Given the description of an element on the screen output the (x, y) to click on. 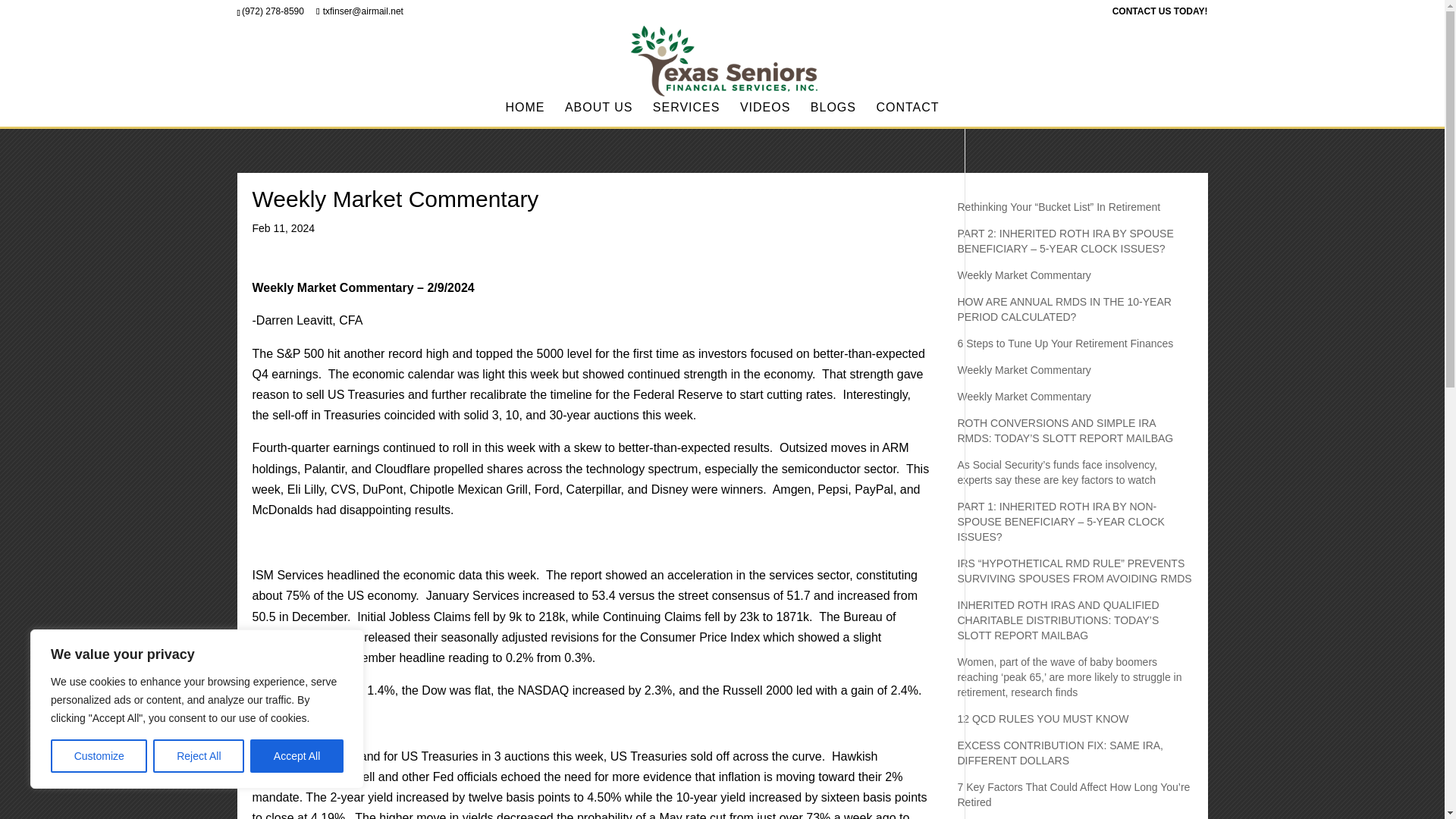
ABOUT US (598, 114)
CONTACT (907, 114)
HOME (524, 114)
VIDEOS (764, 114)
HOW ARE ANNUAL RMDS IN THE 10-YEAR PERIOD CALCULATED? (1063, 308)
Weekly Market Commentary (1023, 396)
SERVICES (686, 114)
Reject All (198, 756)
Weekly Market Commentary (1023, 369)
CONTACT US TODAY! (1160, 14)
Accept All (296, 756)
6 Steps to Tune Up Your Retirement Finances (1064, 343)
BLOGS (833, 114)
Customize (98, 756)
Weekly Market Commentary (1023, 275)
